Given the description of an element on the screen output the (x, y) to click on. 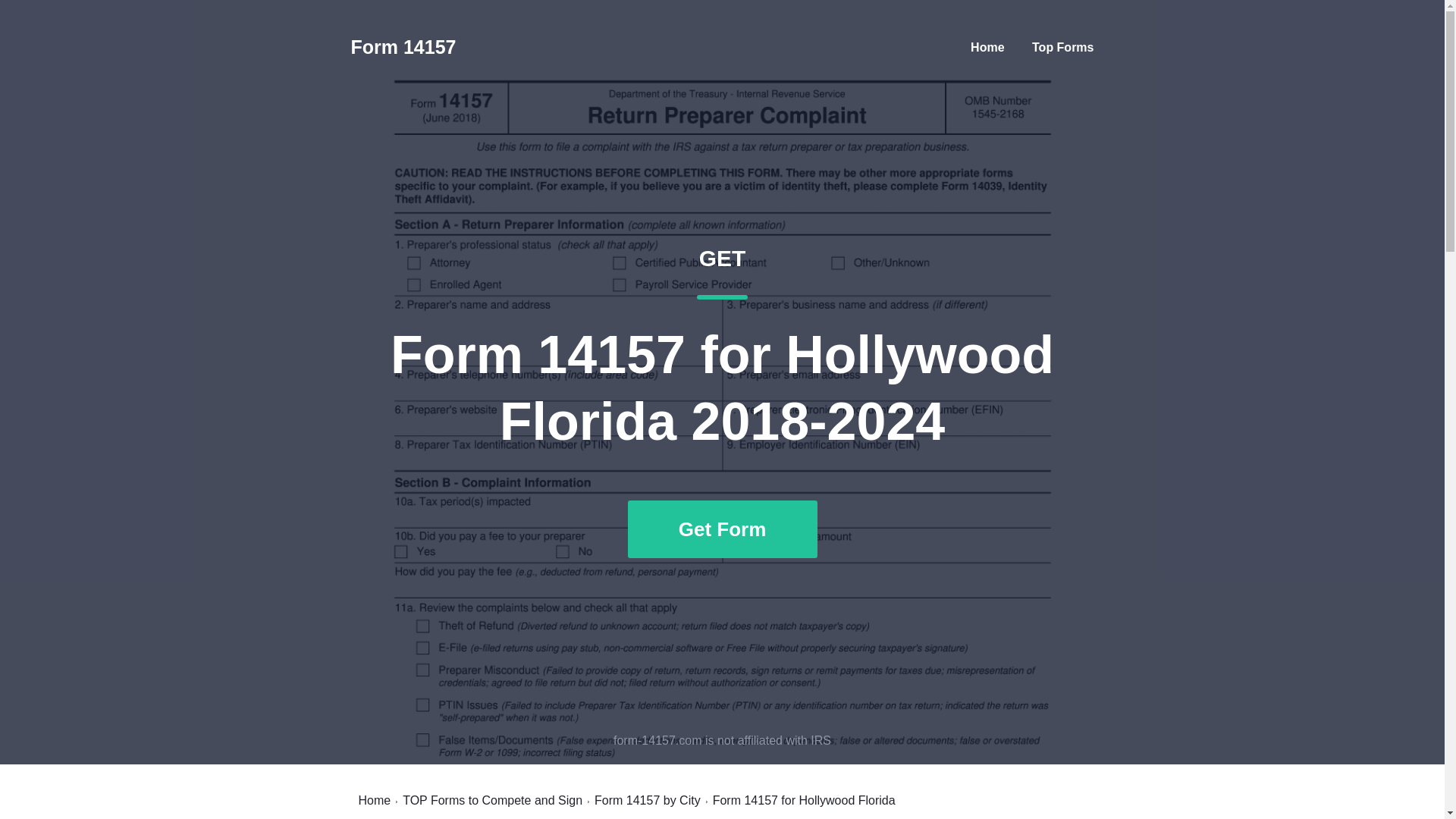
TOP Forms to Compete and Sign (492, 800)
Home (987, 47)
Form 14157 by City (374, 800)
Top Forms (647, 800)
Form 14157 (1062, 47)
